Given the description of an element on the screen output the (x, y) to click on. 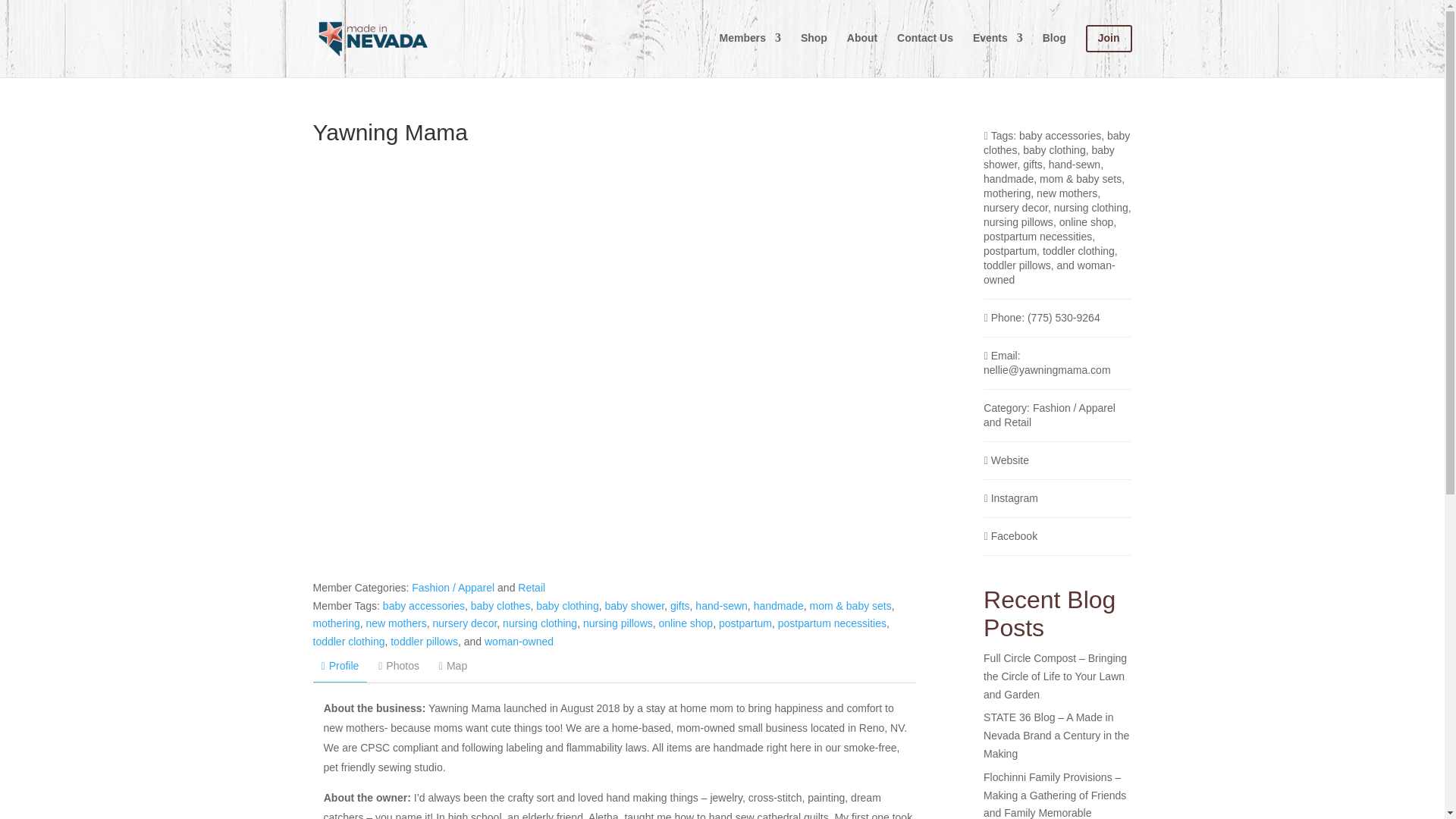
online shop (686, 623)
Contact Us (924, 49)
nursing clothing (539, 623)
baby clothing (566, 605)
nursing pillows (617, 623)
baby shower (633, 605)
nursery decor (464, 623)
toddler clothing (348, 641)
Events (997, 49)
baby accessories (423, 605)
gifts (679, 605)
mothering (336, 623)
new mothers (396, 623)
baby clothes (500, 605)
handmade (778, 605)
